Given the description of an element on the screen output the (x, y) to click on. 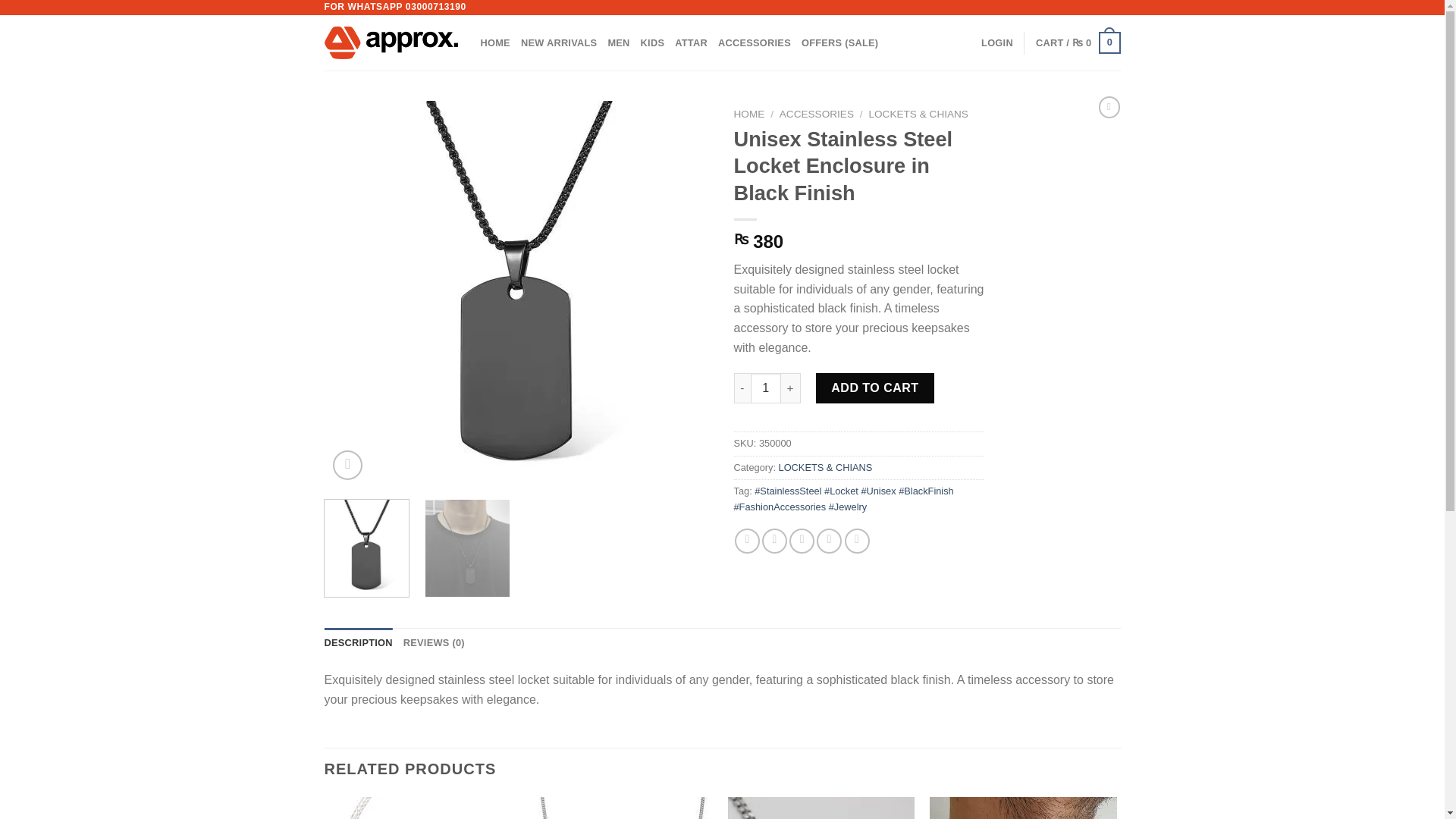
Pin on Pinterest (828, 540)
ACCESSORIES (753, 42)
Share on Facebook (747, 540)
LOGIN (997, 42)
MEN (617, 42)
ADD TO CART (874, 388)
1 (765, 388)
Cart (1078, 43)
Approx - Approx Clothing, E-Commerce, (391, 42)
ACCESSORIES (815, 113)
Share on Twitter (774, 540)
KIDS (652, 42)
- (742, 388)
HOME (495, 42)
